Given the description of an element on the screen output the (x, y) to click on. 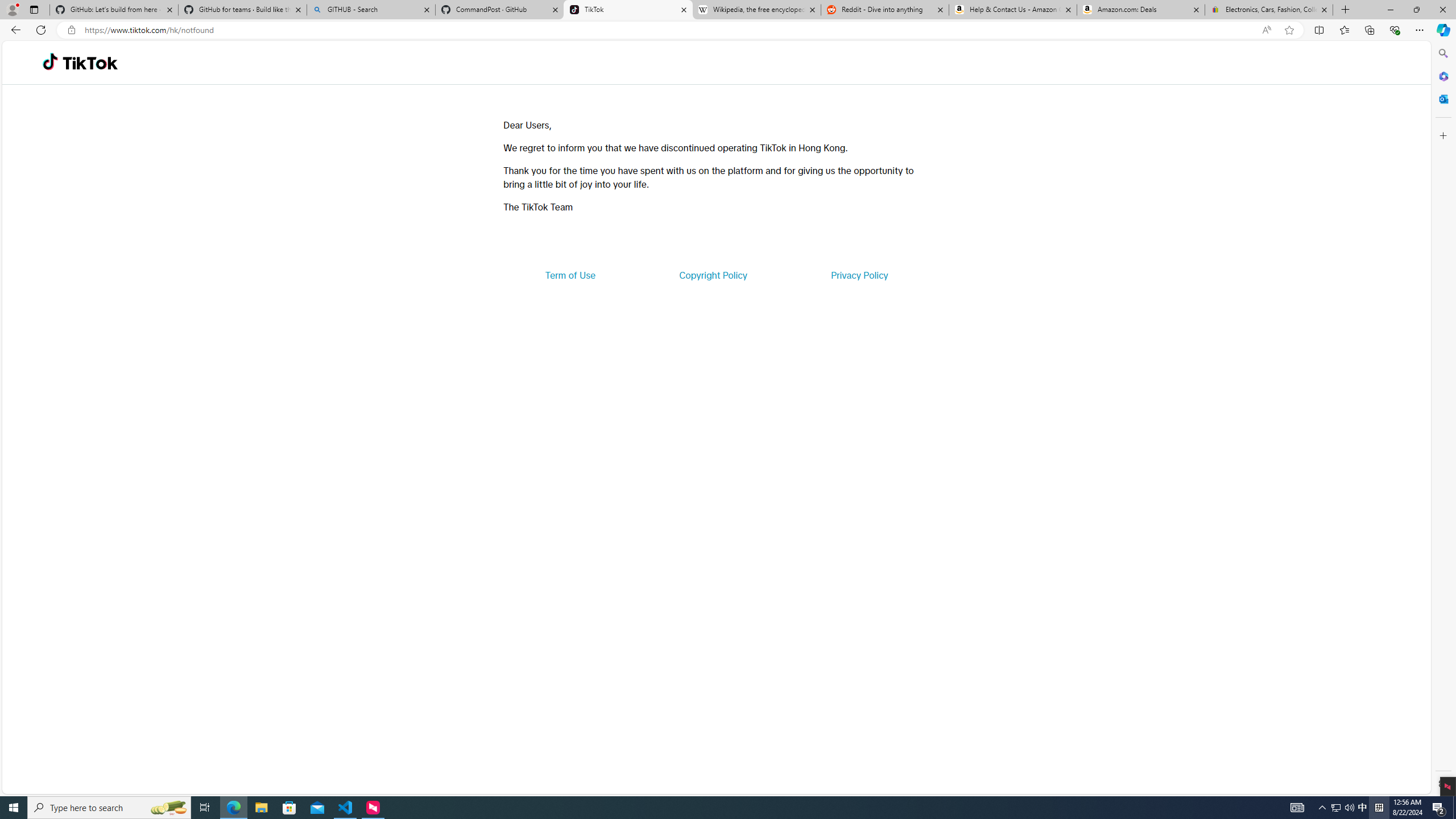
Term of Use (569, 274)
TikTok (89, 62)
TikTok (628, 9)
Help & Contact Us - Amazon Customer Service (1012, 9)
